Given the description of an element on the screen output the (x, y) to click on. 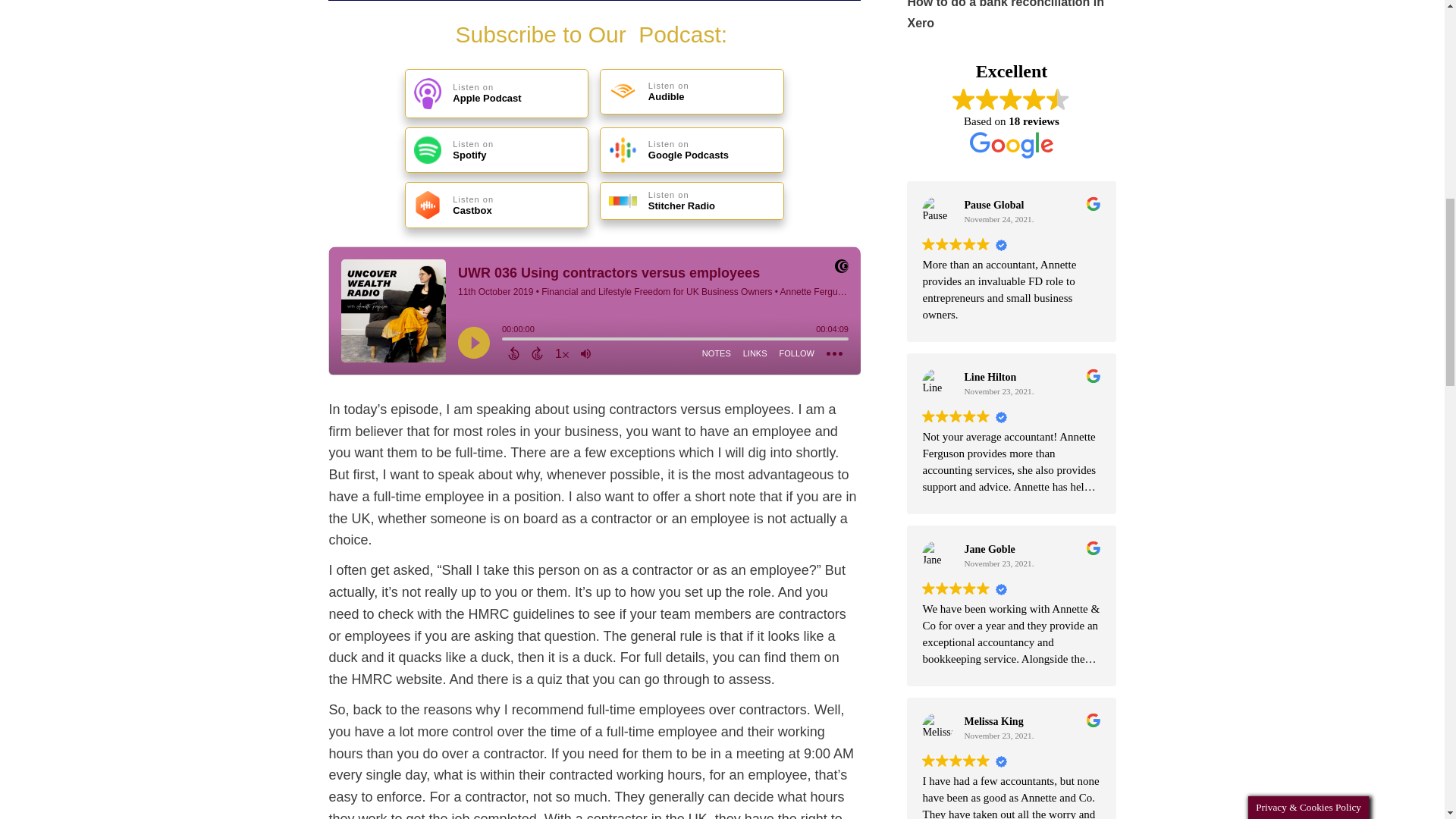
GPodcastLogo-Symbol (622, 149)
stitcher-68 (622, 201)
Spotify-Logo-Symbol (427, 149)
castbox-logo-100 (427, 204)
